Given the description of an element on the screen output the (x, y) to click on. 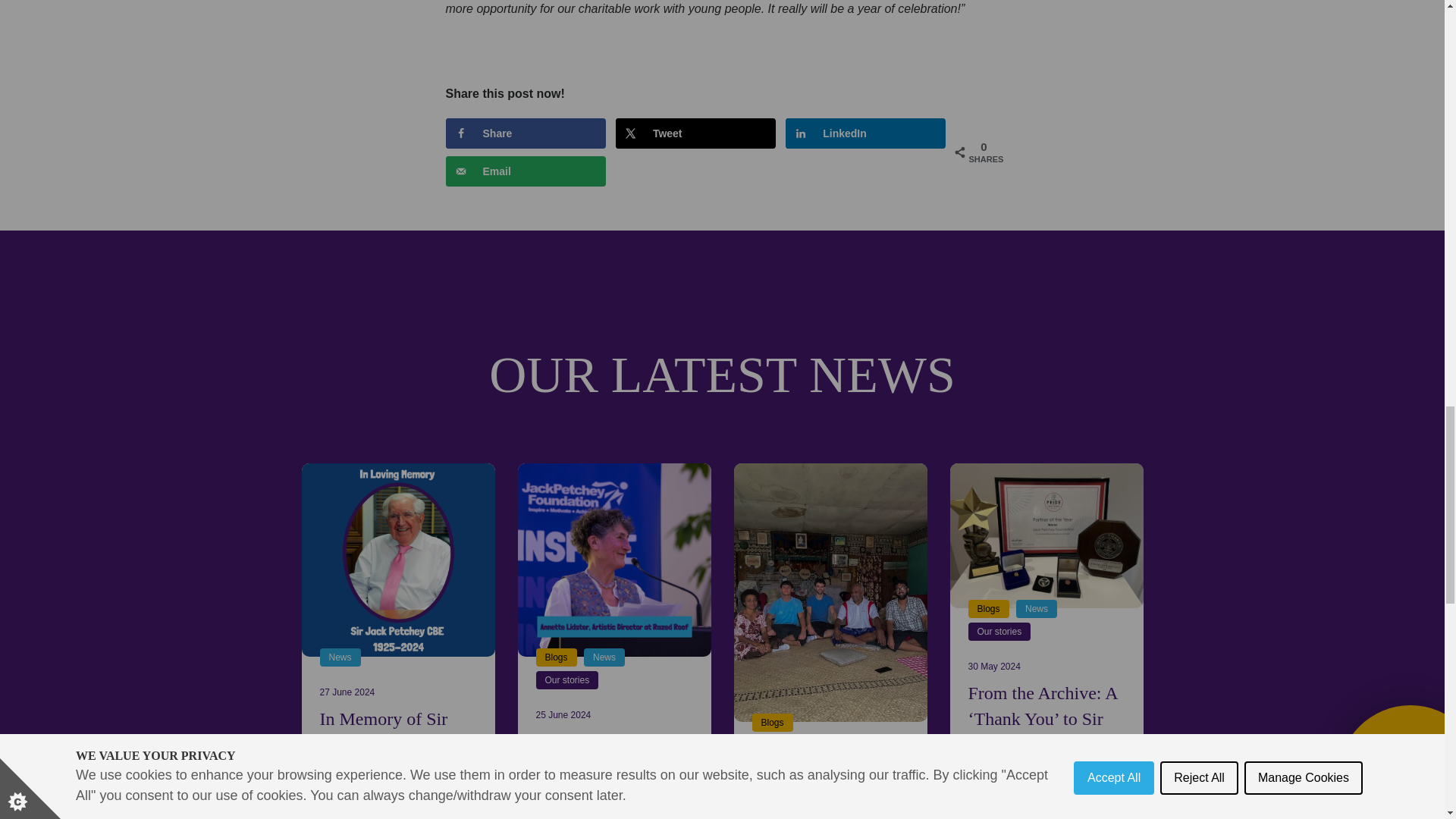
Share on Facebook (525, 132)
Send over email (525, 171)
Share on X (695, 132)
Share on LinkedIn (865, 132)
